Given the description of an element on the screen output the (x, y) to click on. 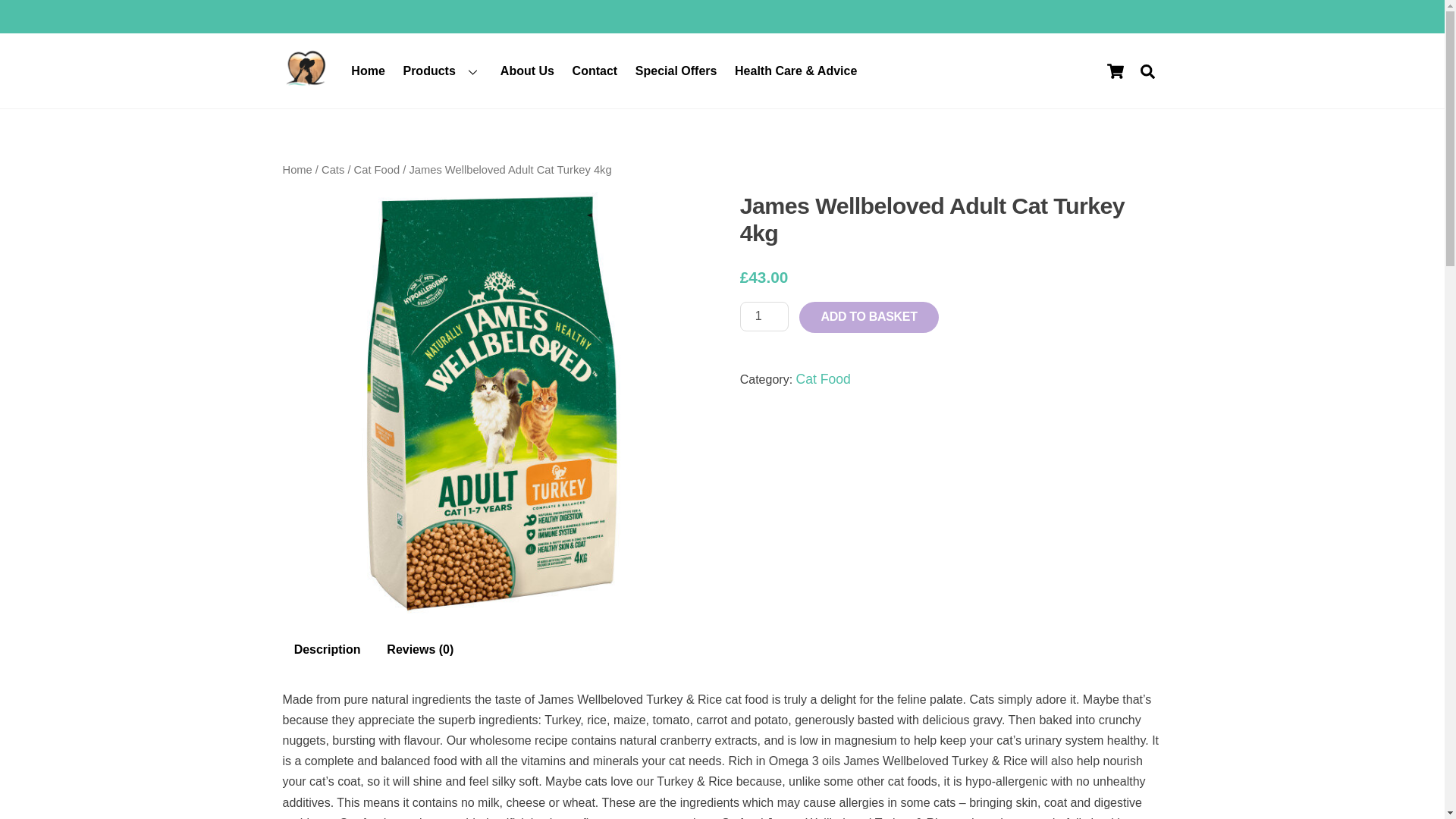
Home (368, 70)
About Us (526, 70)
Countryside Pets (304, 82)
1 (764, 316)
Special Offers (675, 70)
Cart (1114, 71)
Contact (594, 70)
Search (1146, 70)
Products (442, 70)
